Given the description of an element on the screen output the (x, y) to click on. 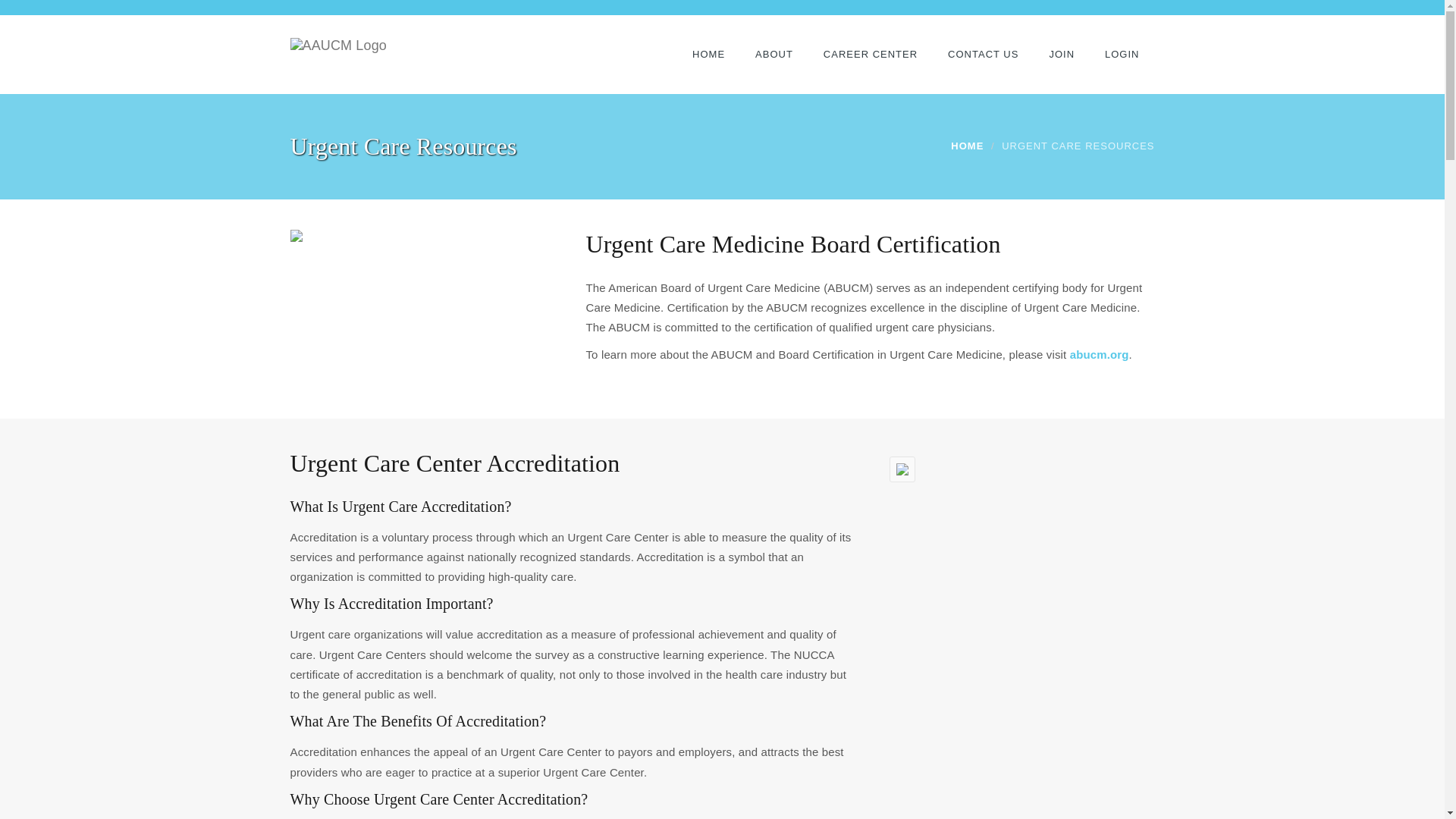
HOME (967, 145)
CONTACT US (983, 54)
abucm.org (1099, 354)
CAREER CENTER (870, 54)
